Given the description of an element on the screen output the (x, y) to click on. 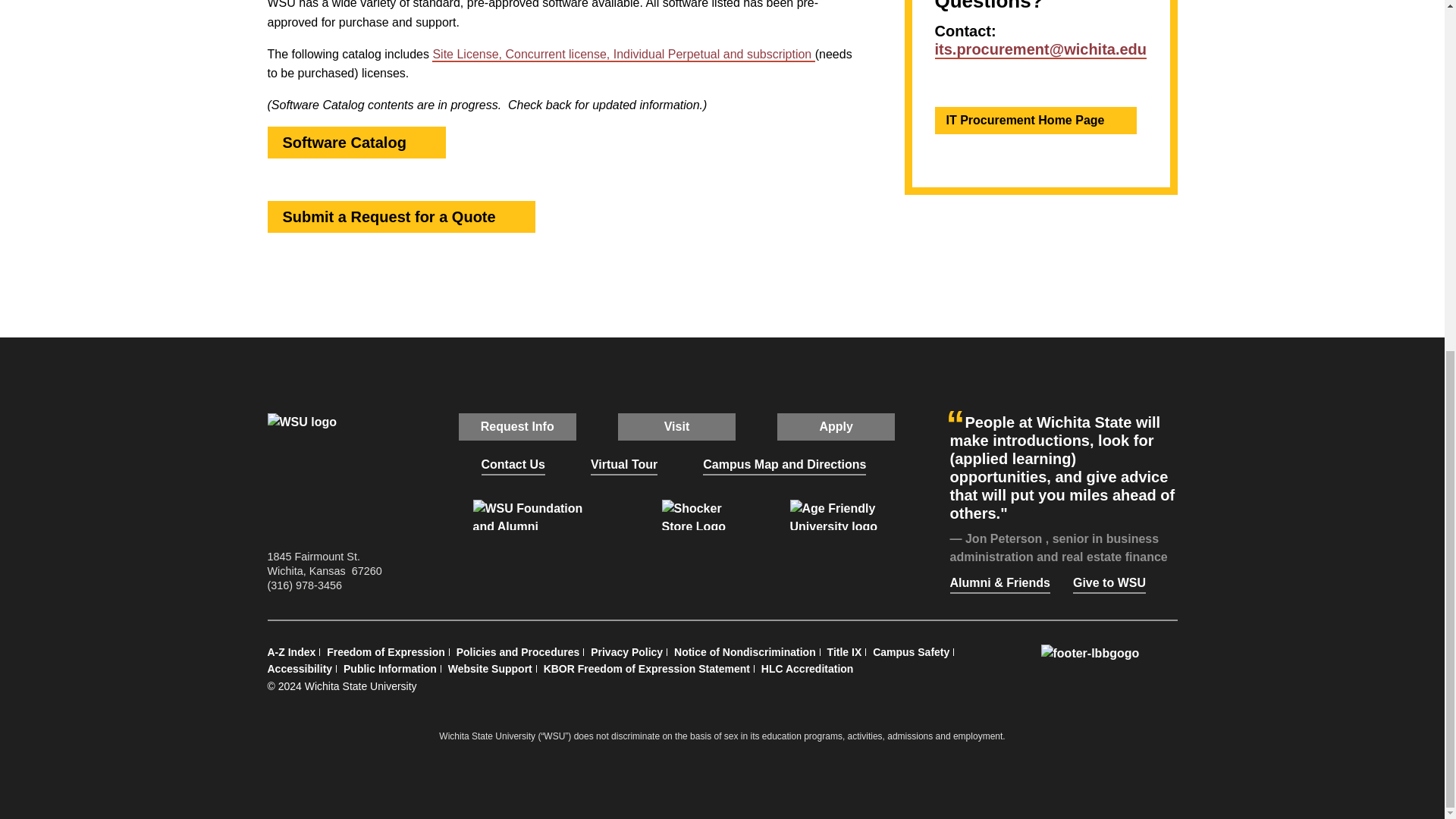
IT Procurement Home Page (1119, 120)
YouTube (710, 563)
Software Catalog (422, 142)
Instagram (675, 563)
Submit a Request for a Quote (512, 216)
Facebook (605, 563)
